Given the description of an element on the screen output the (x, y) to click on. 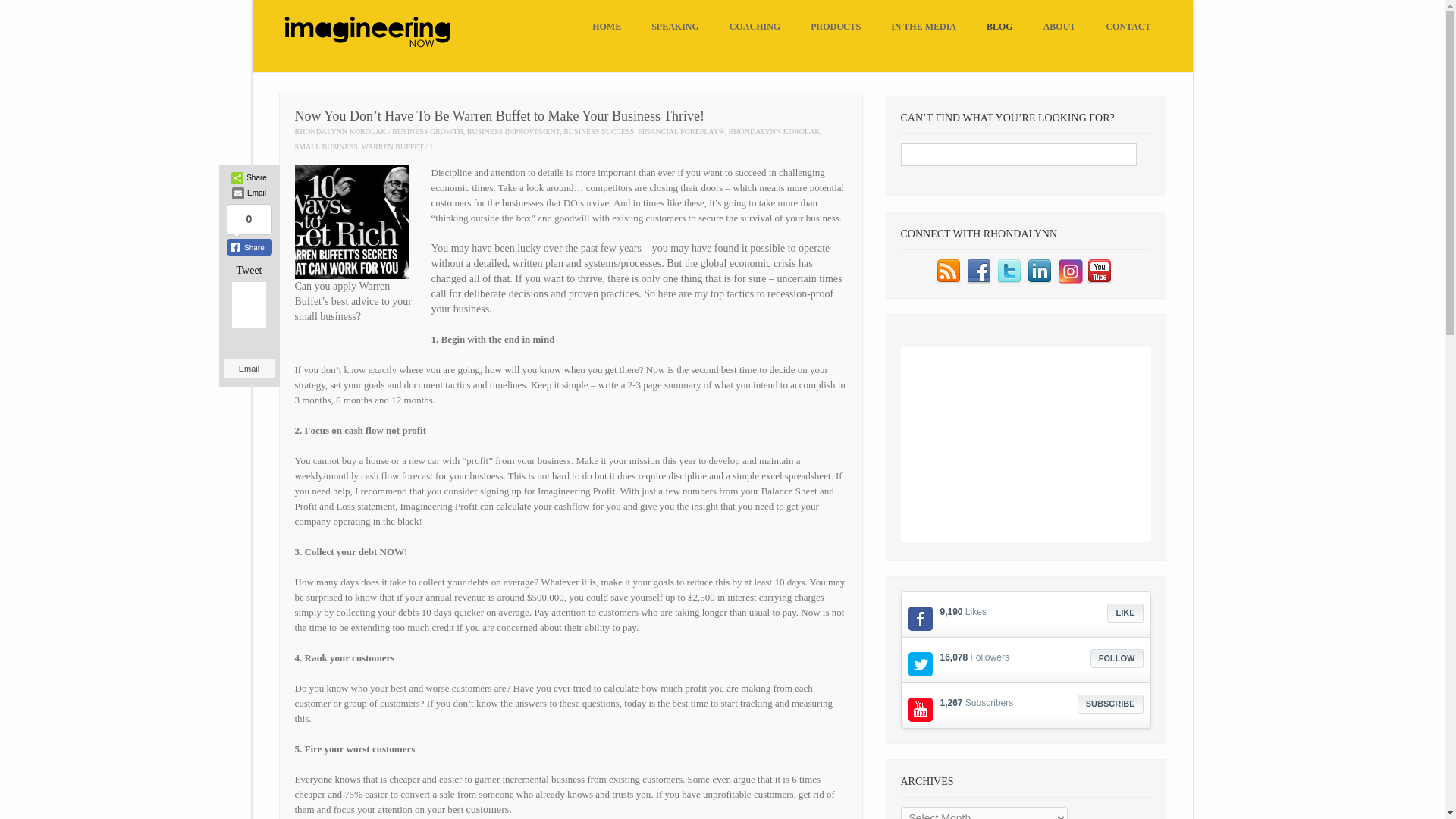
BUSINESS SUCCESS (598, 131)
Subscribe to Youtube Channel (1109, 703)
WARREN BUFFET (392, 146)
BUSINESS IMPROVEMENT (513, 131)
Follow on Twitter (1116, 658)
IN THE MEDIA (923, 26)
SMALL BUSINESS (325, 146)
BLOG (999, 26)
RHONDALYNN KOROLAK (339, 131)
RHONDALYNN KOROLAK (775, 131)
ABOUT (1058, 26)
buffet tips that can work for your small business (350, 222)
BUSINESS GROWTH (427, 131)
Like on Facebook (1124, 612)
CONTACT (1128, 26)
